Given the description of an element on the screen output the (x, y) to click on. 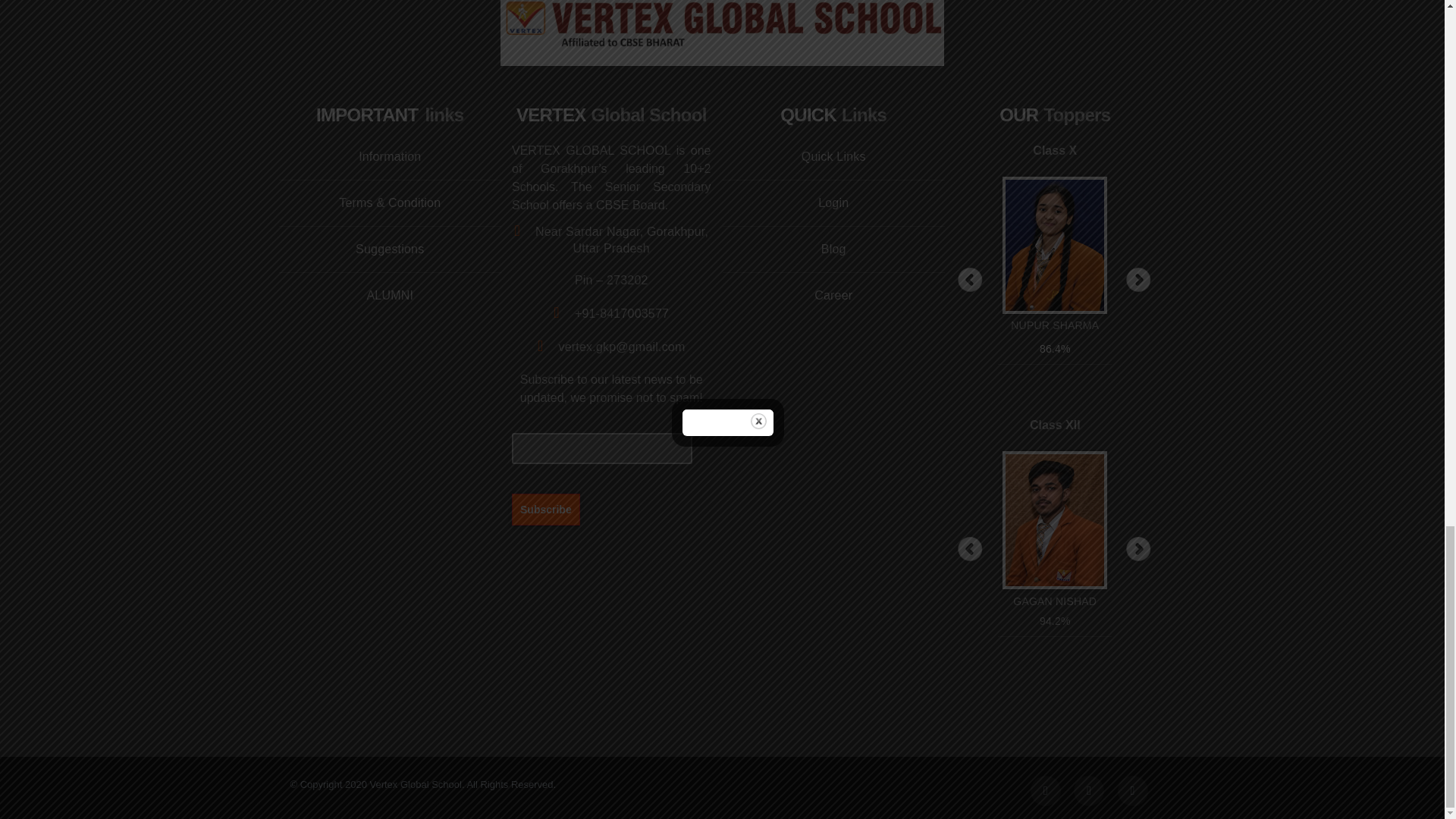
Subscribe (545, 508)
